Given the description of an element on the screen output the (x, y) to click on. 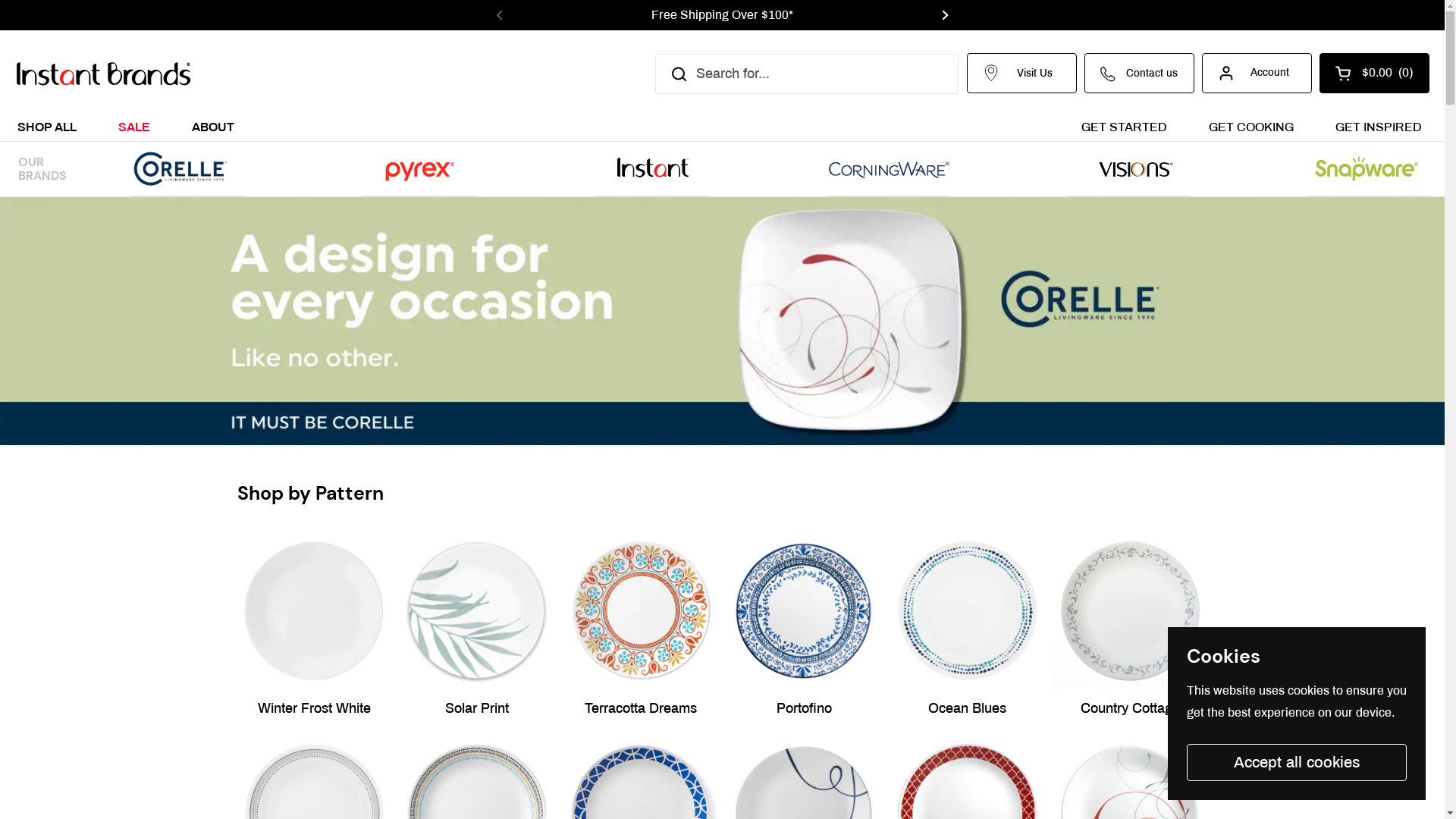
Open cart
$0.00
  (
0
) Element type: text (1374, 73)
GET STARTED Element type: text (1124, 125)
Free Shipping Over $100* Element type: text (722, 14)
Country Cottage Element type: text (1130, 630)
Visit us In-store or Online Element type: text (1168, 14)
ABOUT Element type: text (212, 125)
Skip to content Element type: text (0, 0)
Winter Frost White Element type: text (313, 630)
Account Element type: text (1256, 73)
Ocean Blues Element type: text (967, 630)
Solar Print Element type: text (477, 630)
Accept all cookies Element type: text (1296, 762)
Instant Brands Element type: hover (103, 73)
SHOP ALL Element type: text (46, 125)
Terracotta Dreams Element type: text (640, 630)
Visit Us Element type: text (1021, 73)
Portofino Element type: text (803, 630)
GET COOKING Element type: text (1250, 125)
SALE Element type: text (134, 125)
GET INSPIRED Element type: text (1378, 125)
Contact us Element type: text (1139, 73)
